Given the description of an element on the screen output the (x, y) to click on. 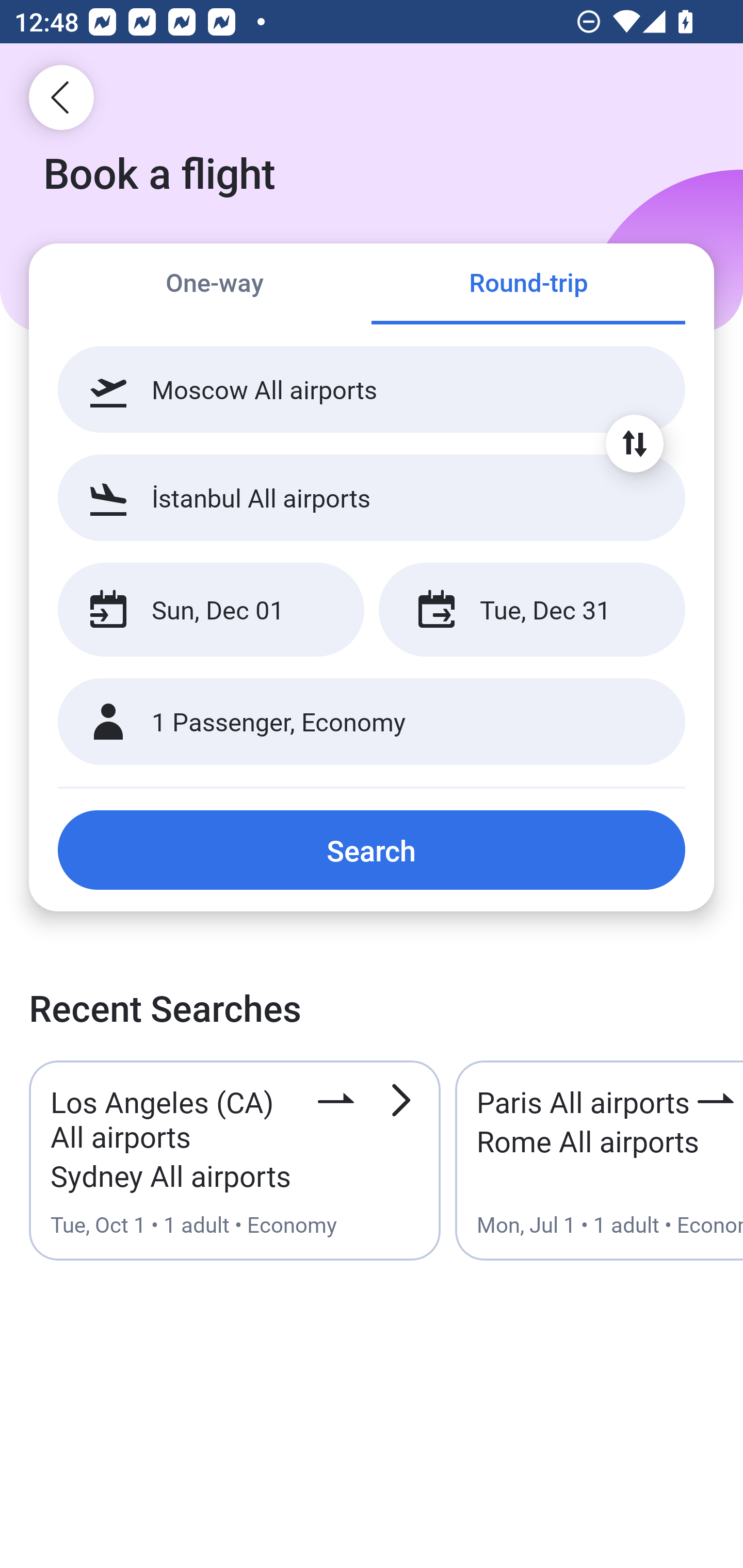
One-way (214, 284)
Moscow All airports (371, 389)
İstanbul All airports (371, 497)
Sun, Dec 01 (210, 609)
Tue, Dec 31 (531, 609)
1 Passenger, Economy (371, 721)
Search (371, 849)
